Given the description of an element on the screen output the (x, y) to click on. 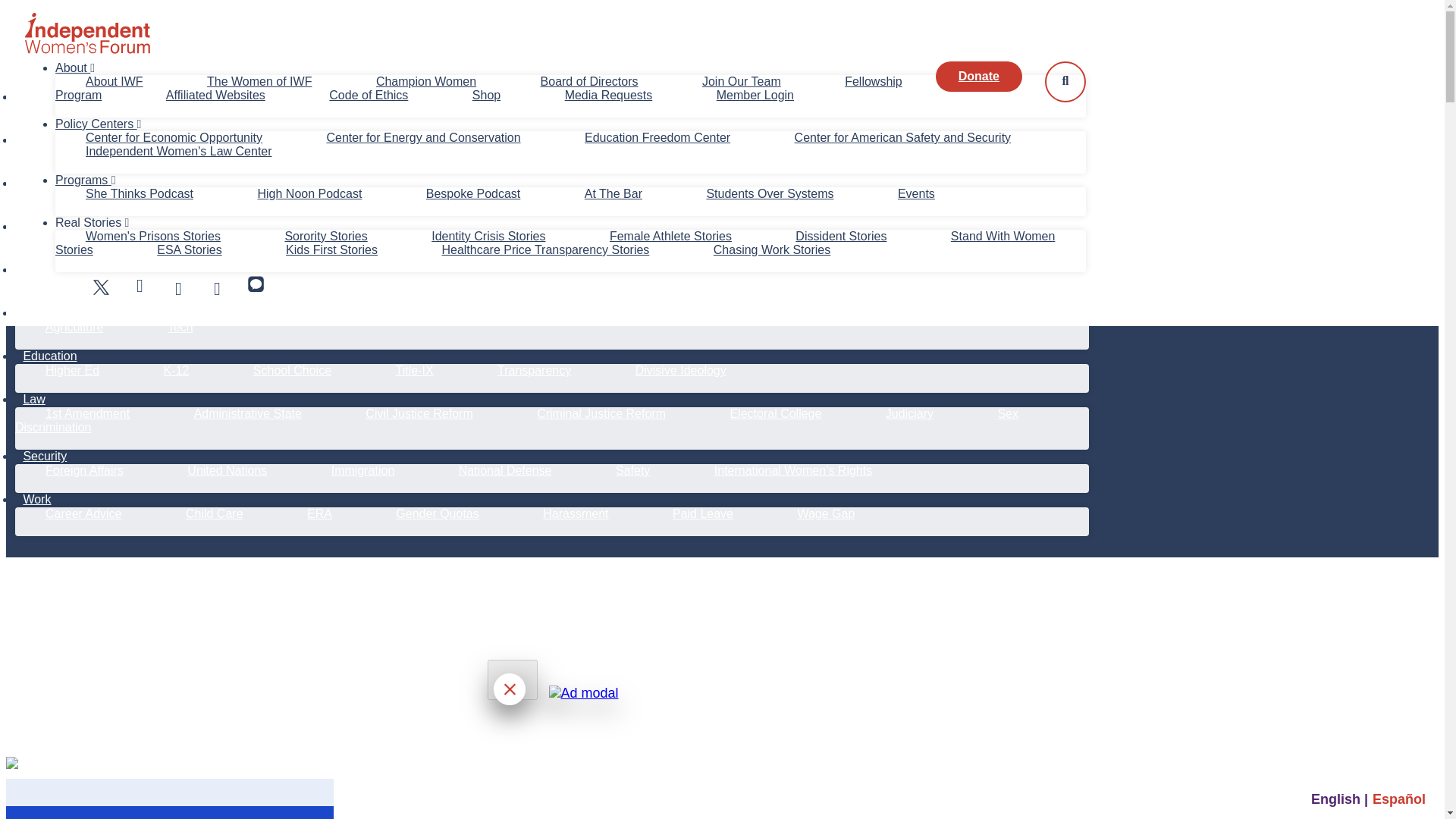
The Women of IWF (259, 81)
Female Athlete Stories (670, 235)
Kids First Stories (331, 249)
Fellowship Program (478, 87)
Dissident Stories (841, 235)
Code of Ethics (368, 94)
Center for Energy and Conservation (422, 137)
Board of Directors (589, 81)
Sorority Stories (325, 235)
Policy Centers (98, 123)
She Thinks Podcast (139, 193)
Stand With Women Stories (554, 242)
Affiliated Websites (215, 94)
High Noon Podcast (309, 193)
Champion Women (426, 81)
